Given the description of an element on the screen output the (x, y) to click on. 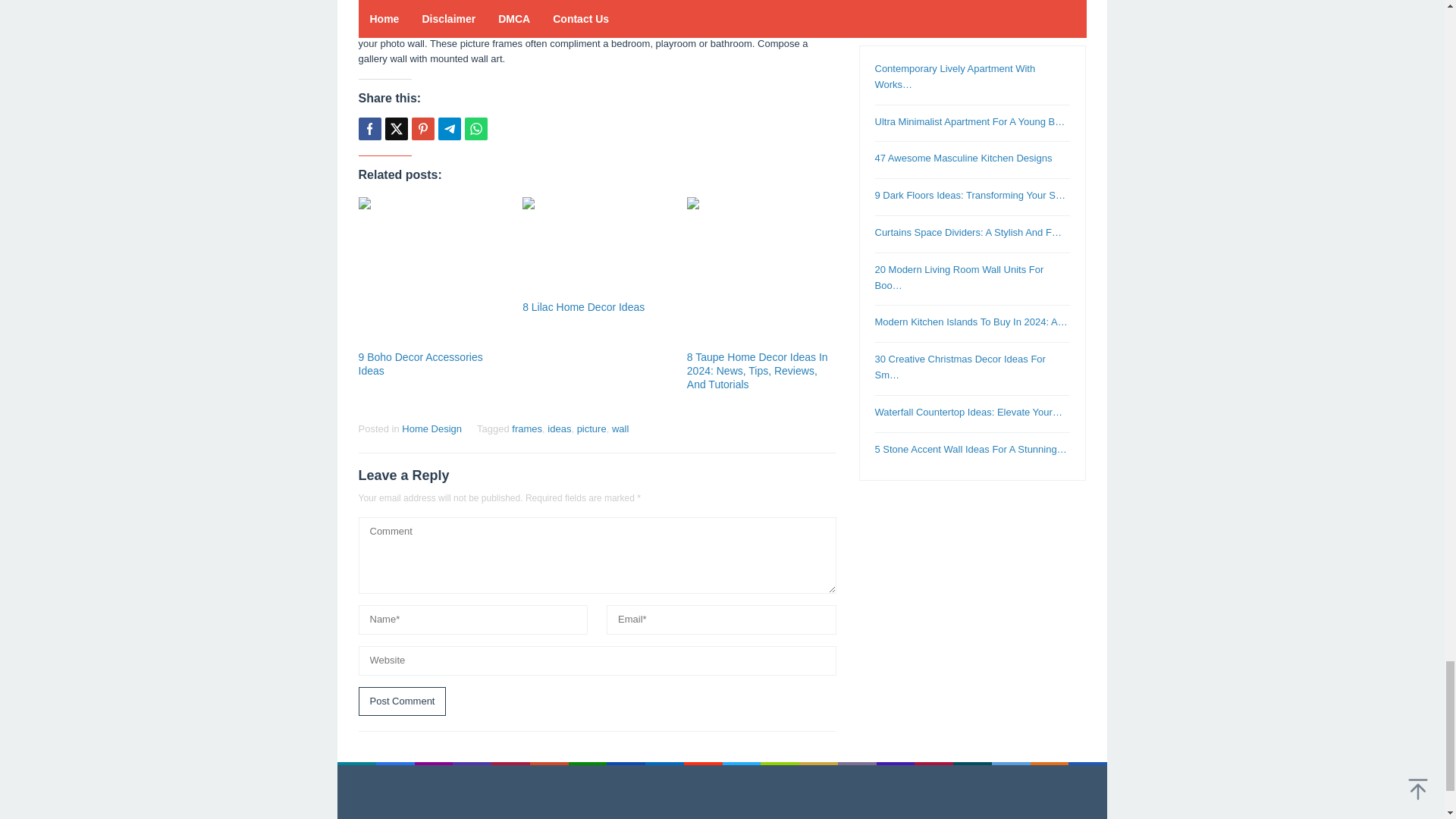
Permalink to: 9 Boho Decor Accessories Ideas (432, 271)
Telegram Share (449, 128)
8 Lilac Home Decor Ideas (583, 306)
Post Comment (401, 701)
Post Comment (401, 701)
picture (591, 428)
9 Boho Decor Accessories Ideas (419, 363)
Home Design (431, 428)
Share this (369, 128)
